Given the description of an element on the screen output the (x, y) to click on. 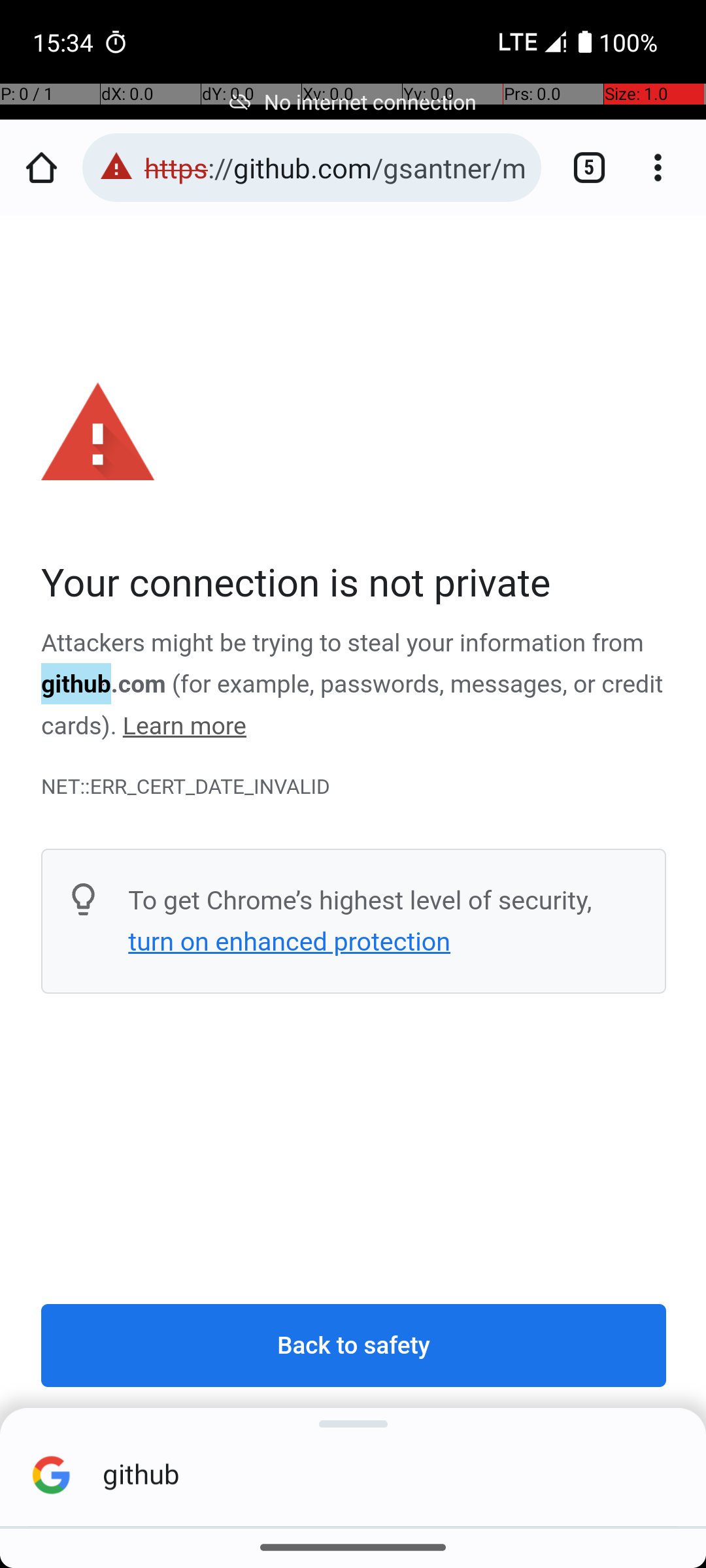
https://github.com/gsantner/markor#readme Element type: android.widget.EditText (335, 167)
